Given the description of an element on the screen output the (x, y) to click on. 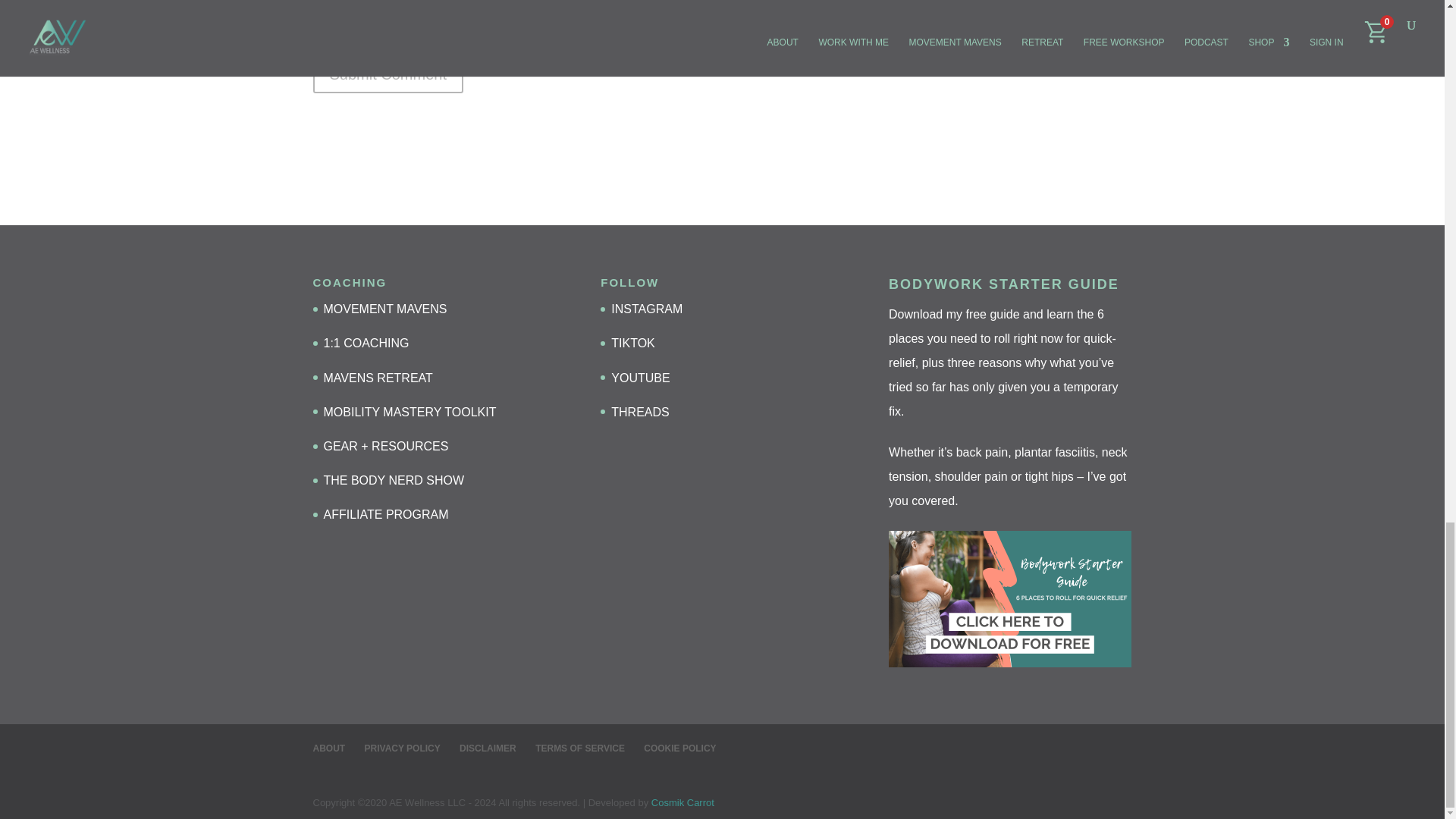
Submit Comment (388, 74)
